Given the description of an element on the screen output the (x, y) to click on. 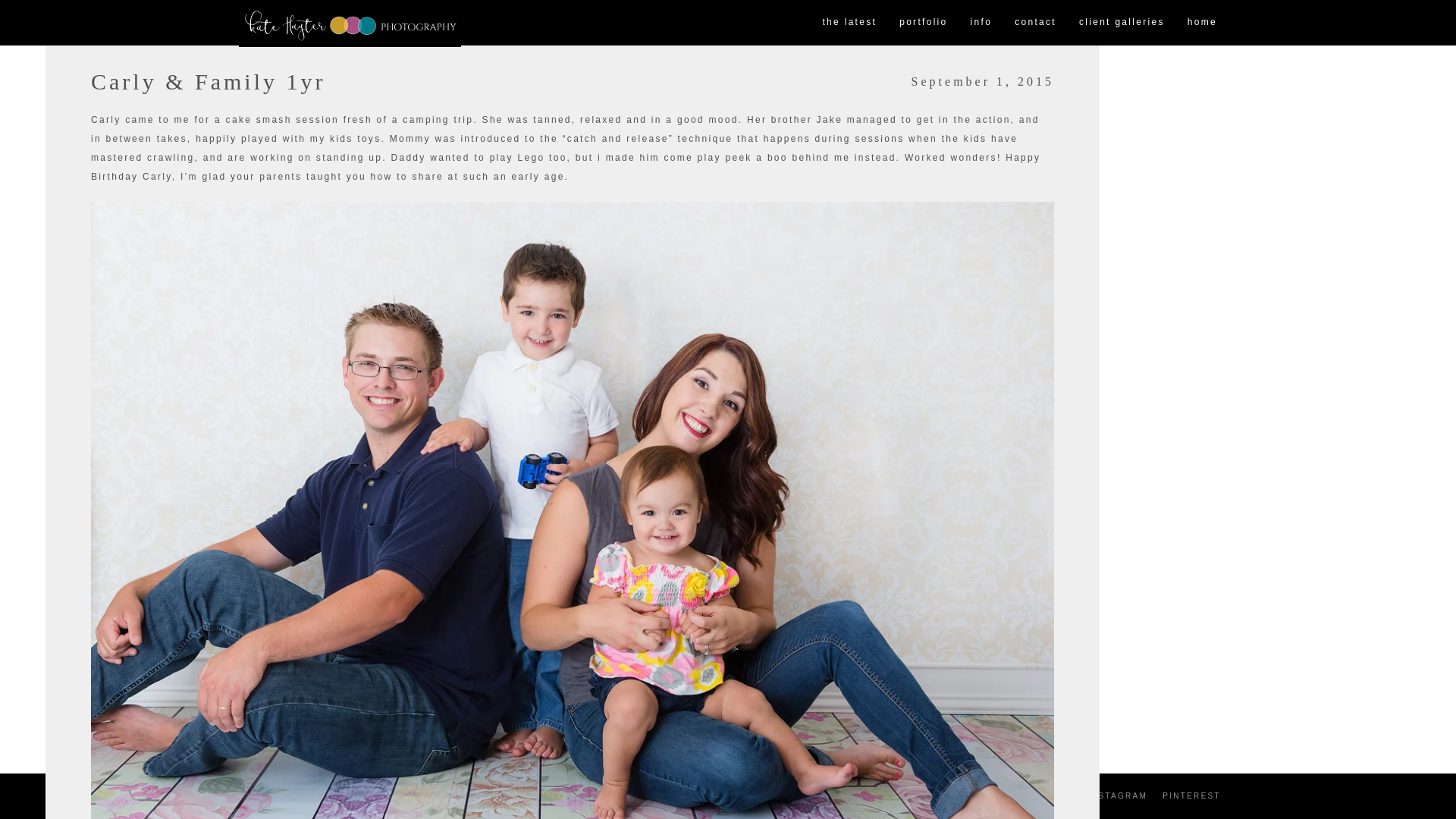
INSTAGRAM (1117, 796)
info (981, 22)
home (1202, 22)
the latest (849, 22)
FACEBOOK (1043, 796)
client galleries (1121, 22)
PINTEREST (1191, 796)
contact (1035, 22)
portfolio (923, 22)
